Given the description of an element on the screen output the (x, y) to click on. 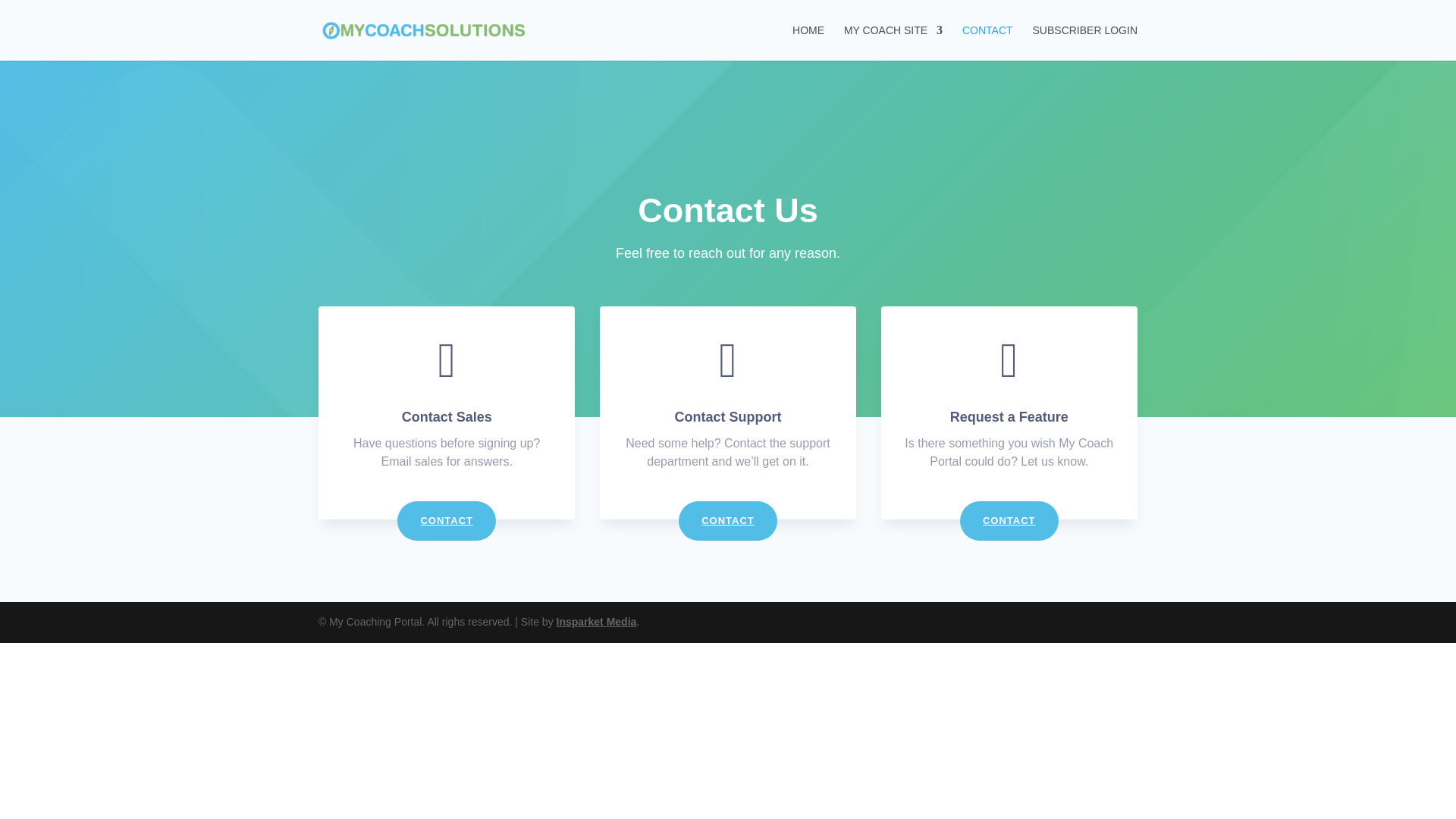
CONTACT (727, 520)
CONTACT (1008, 520)
MY COACH SITE (893, 42)
CONTACT (987, 42)
CONTACT (446, 520)
SUBSCRIBER LOGIN (1084, 42)
HOME (808, 42)
Insparket Media (596, 621)
